Given the description of an element on the screen output the (x, y) to click on. 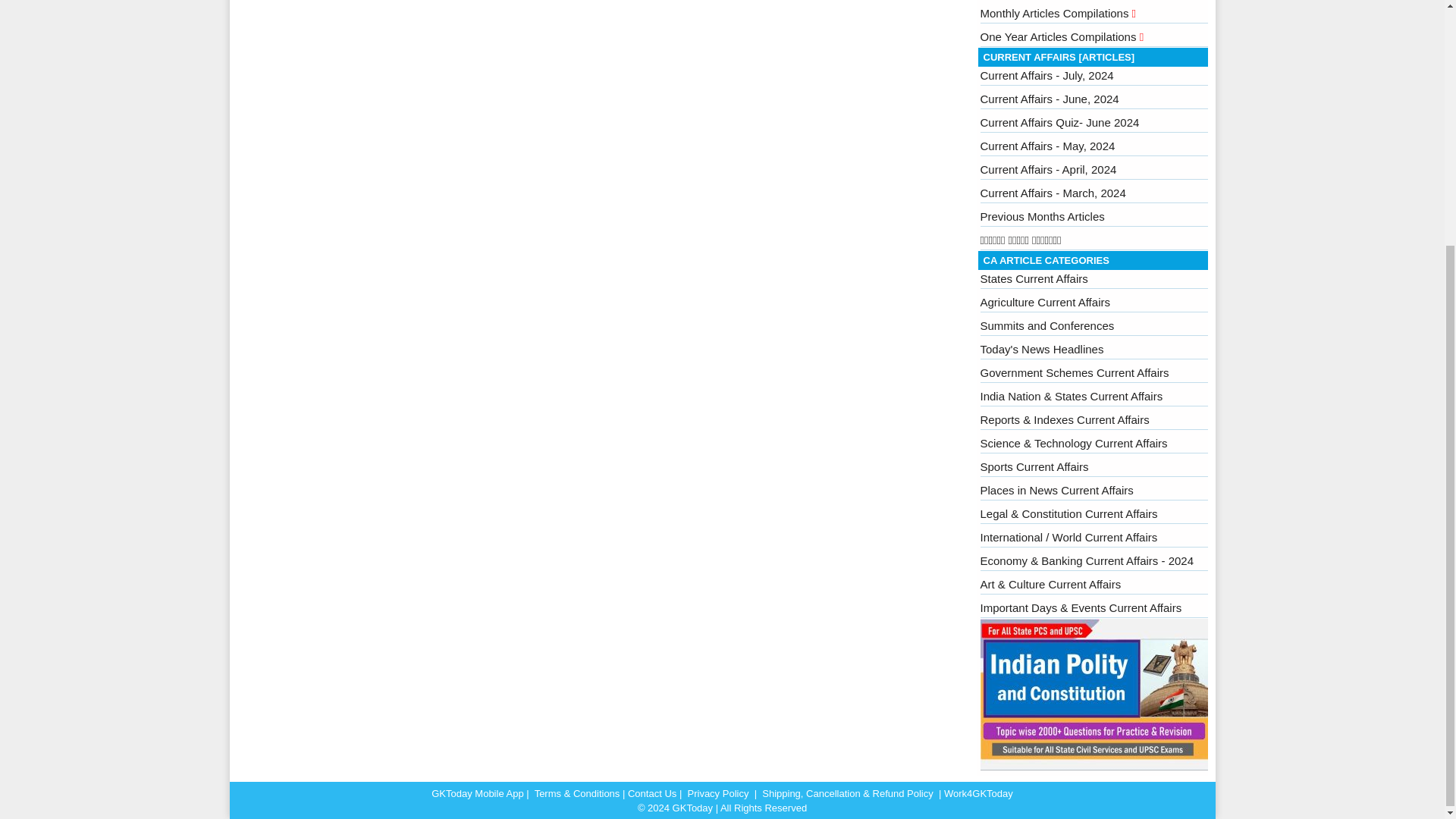
Current Affairs - May, 2024 (1047, 145)
CA ARTICLE CATEGORIES (1044, 260)
Monthly Articles Compilations  (1057, 12)
Summits and Conferences (1046, 325)
Current Affairs - June, 2024 (1048, 98)
Previous Months Articles (1041, 215)
Sports Current Affairs (1033, 466)
Current Affairs - April, 2024 (1047, 169)
Current Affairs - July, 2024 (1046, 74)
Today's News Headlines (1041, 349)
Current Affairs - March, 2024 (1052, 192)
Current Affairs Quiz- June 2024 (1058, 122)
Agriculture Current Affairs (1044, 301)
Places in News Current Affairs (1055, 490)
Government Schemes Current Affairs (1074, 372)
